Given the description of an element on the screen output the (x, y) to click on. 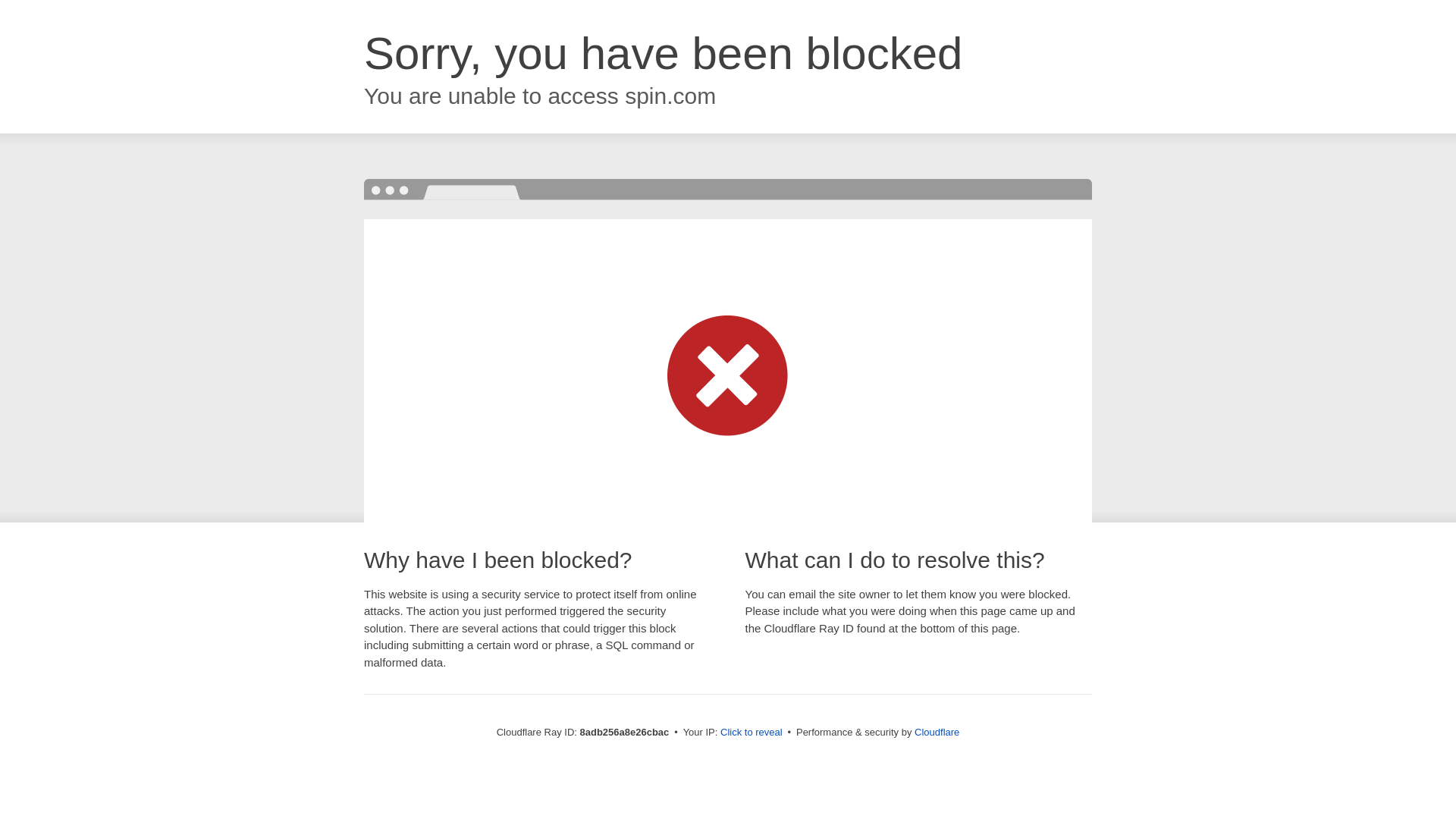
Click to reveal (751, 732)
Cloudflare (936, 731)
